Given the description of an element on the screen output the (x, y) to click on. 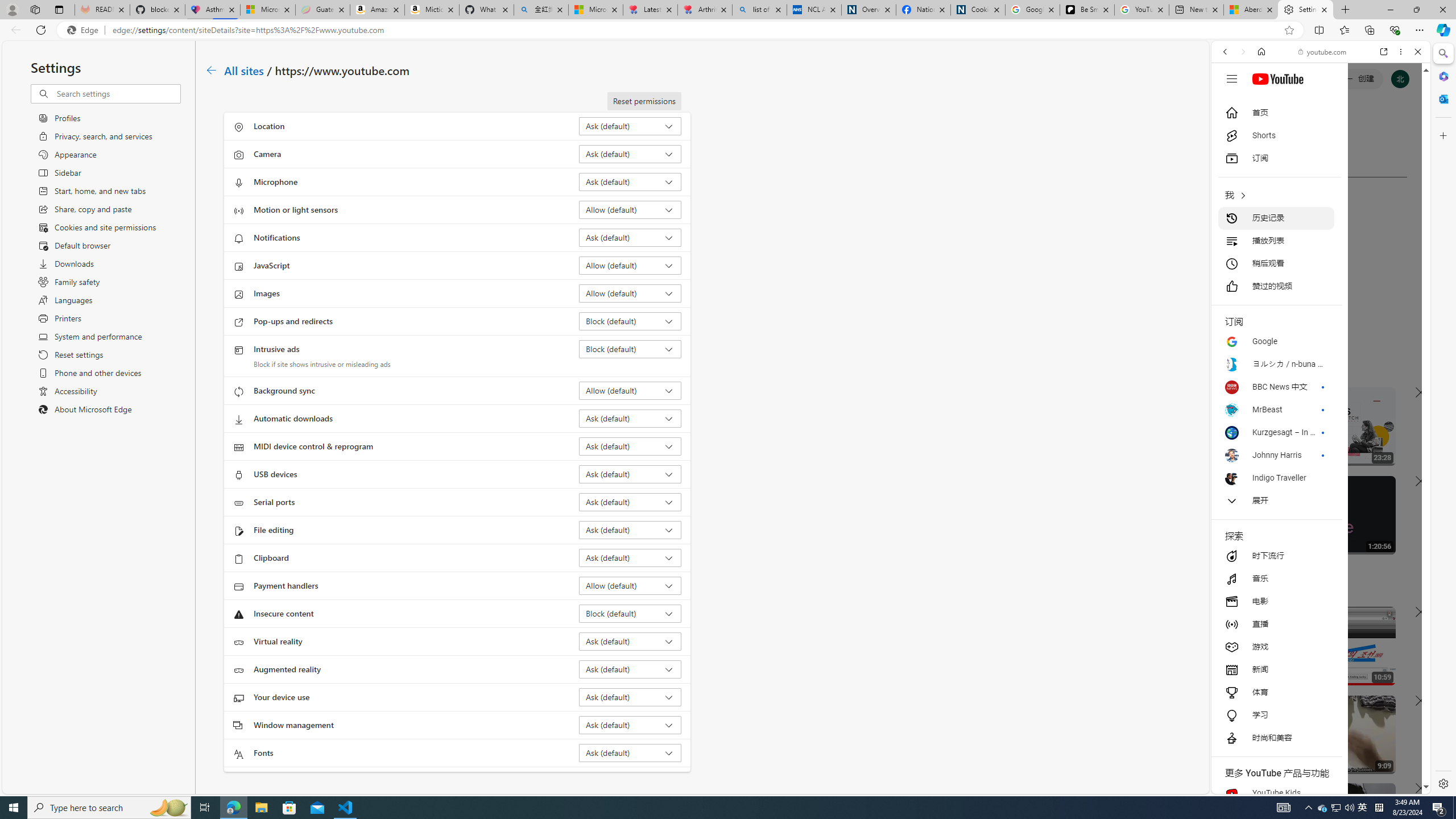
Google (1320, 281)
Class: c01162 (210, 70)
